Given the description of an element on the screen output the (x, y) to click on. 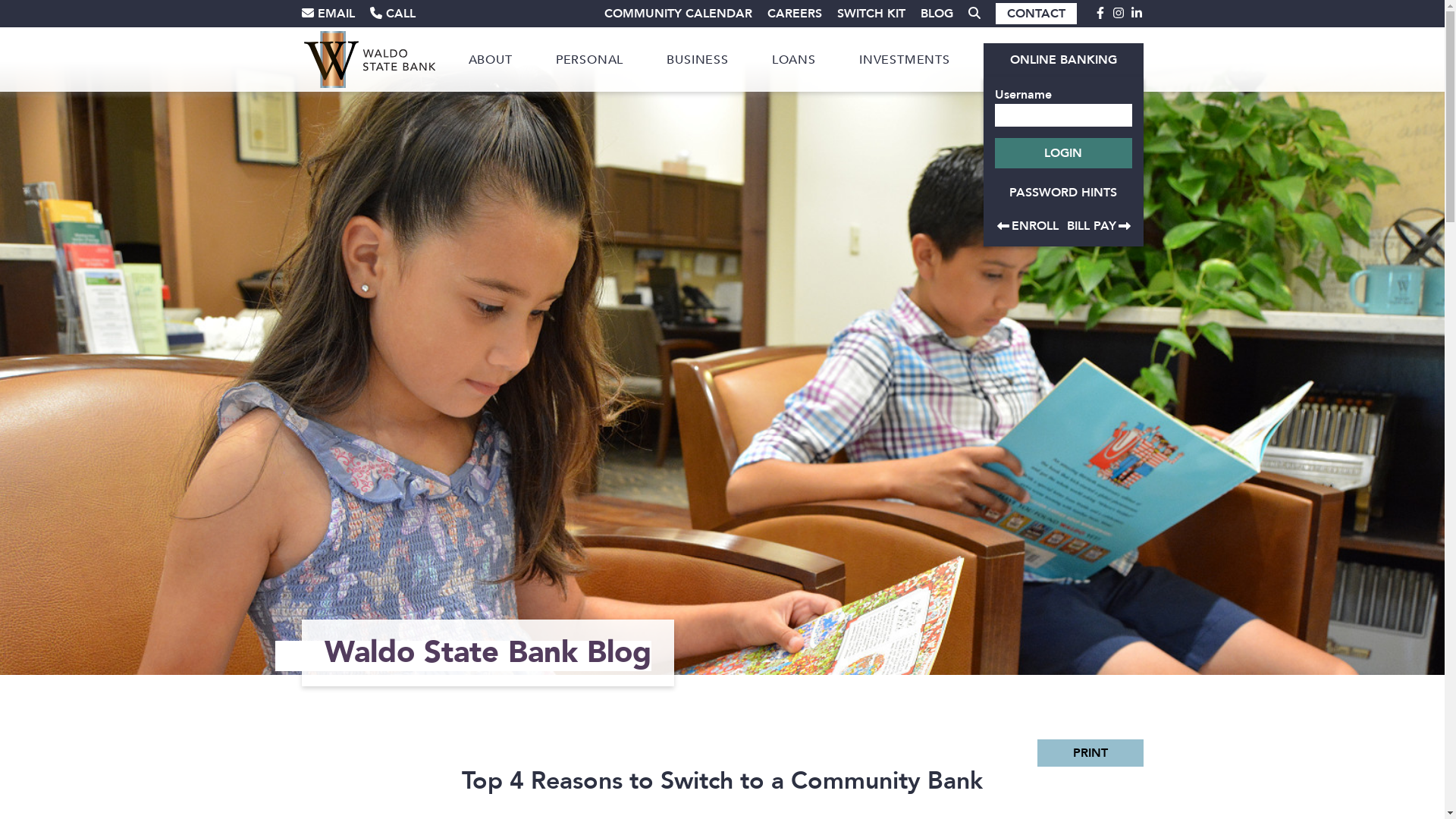
BLOG Element type: text (929, 13)
Login Element type: text (1063, 153)
PASSWORD HINTS Element type: text (1063, 192)
EMAIL Element type: text (335, 13)
PERSONAL Element type: text (589, 59)
ABOUT Element type: text (490, 58)
LOANS Element type: text (793, 58)
CALL Element type: text (400, 13)
SWITCH KIT Element type: text (863, 13)
PRINT Element type: text (1090, 752)
BILL PAY Element type: text (1097, 225)
INVESTMENTS Element type: text (904, 58)
ENROLL Element type: text (1028, 225)
CONTACT Element type: text (1035, 13)
CAREERS Element type: text (787, 13)
BUSINESS Element type: text (696, 59)
COMMUNITY CALENDAR Element type: text (669, 13)
